Given the description of an element on the screen output the (x, y) to click on. 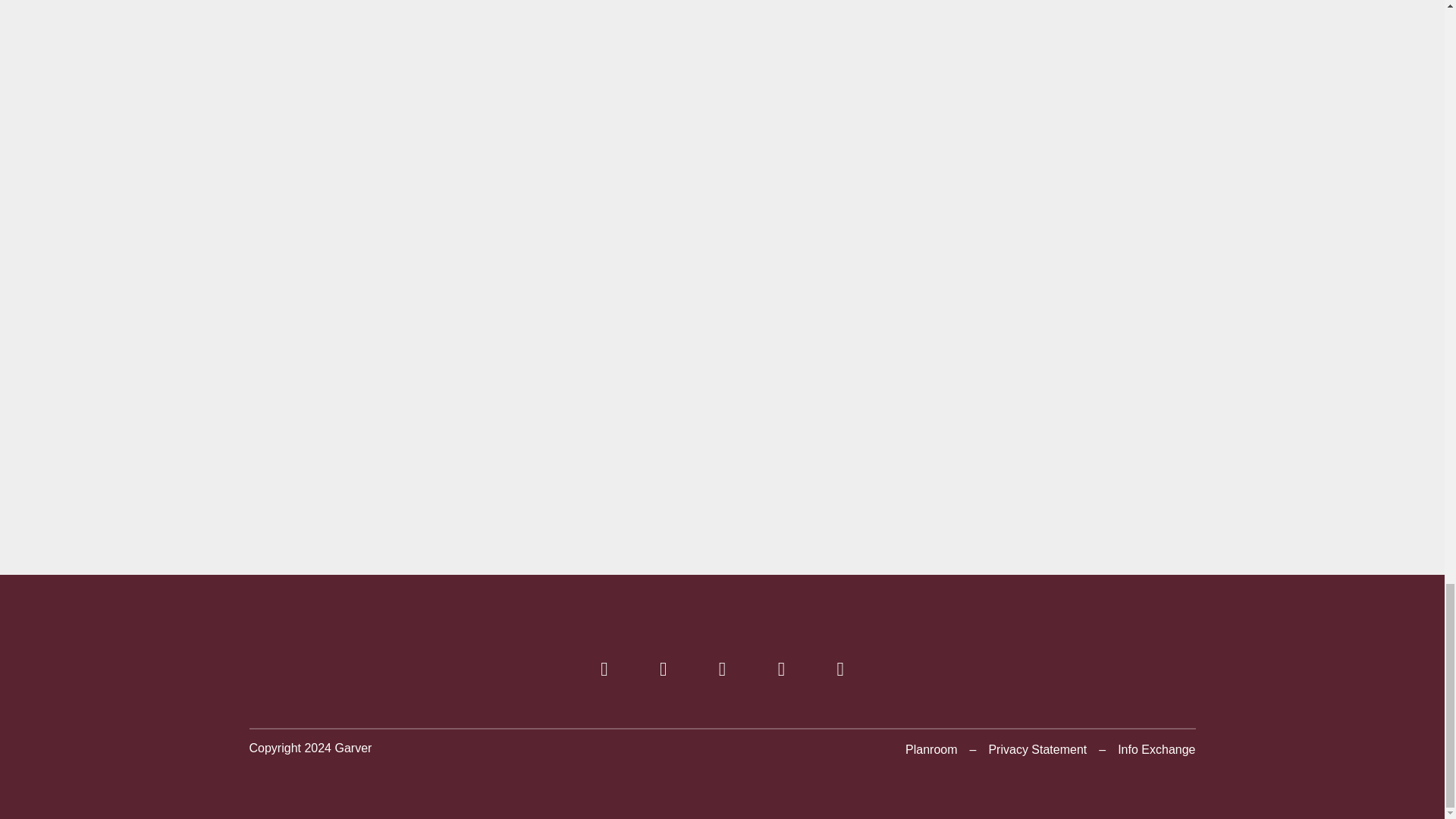
Garver on Facebook (603, 671)
Garver on linkedIn (721, 671)
Garver on YouTube (781, 671)
Garver on Twitter (662, 671)
Garver on Instagram (839, 671)
